Given the description of an element on the screen output the (x, y) to click on. 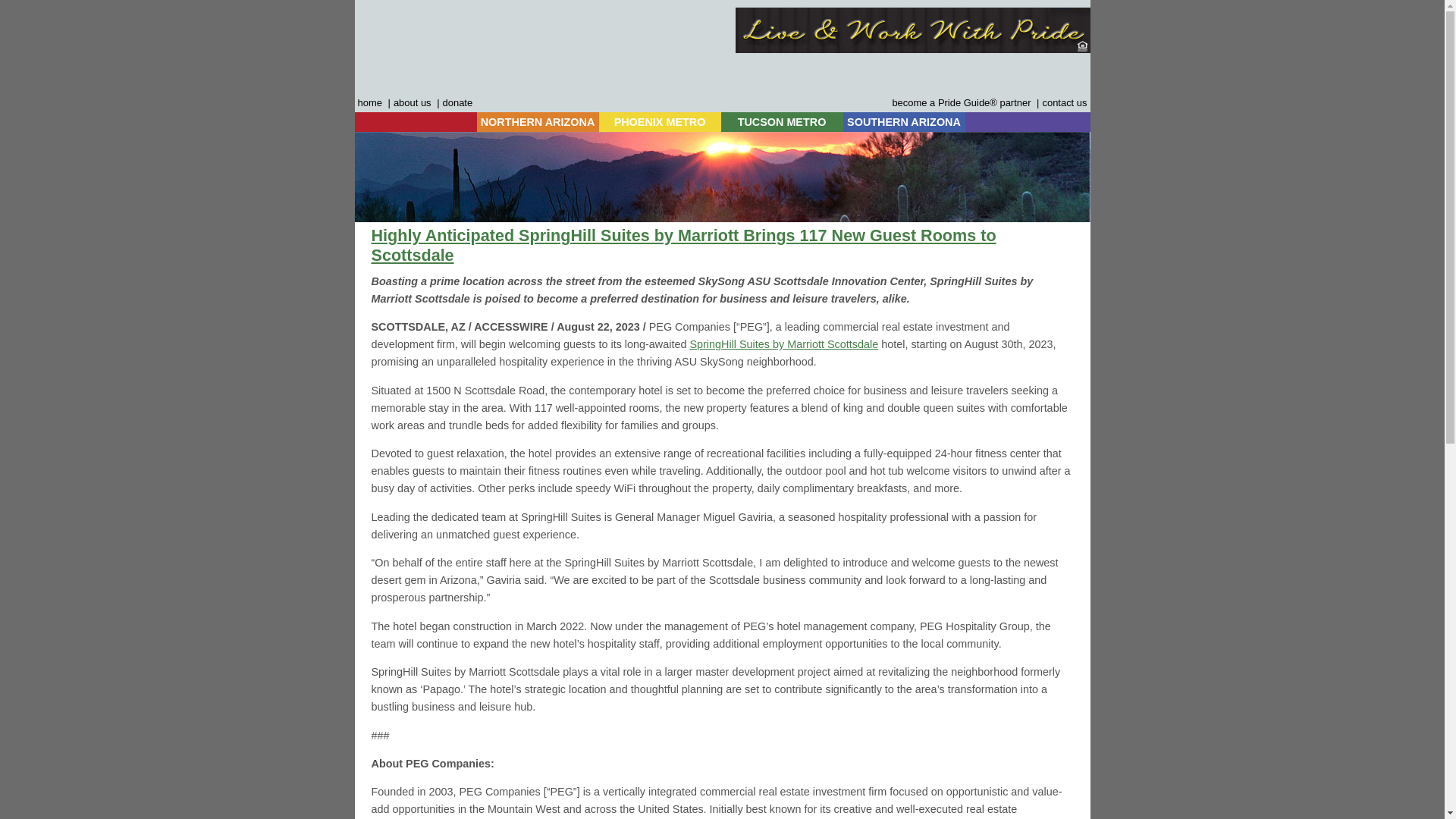
donate (457, 102)
about us (411, 102)
home (370, 102)
NORTHERN ARIZONA (537, 121)
PHOENIX METRO (659, 121)
contact us (1064, 102)
